Given the description of an element on the screen output the (x, y) to click on. 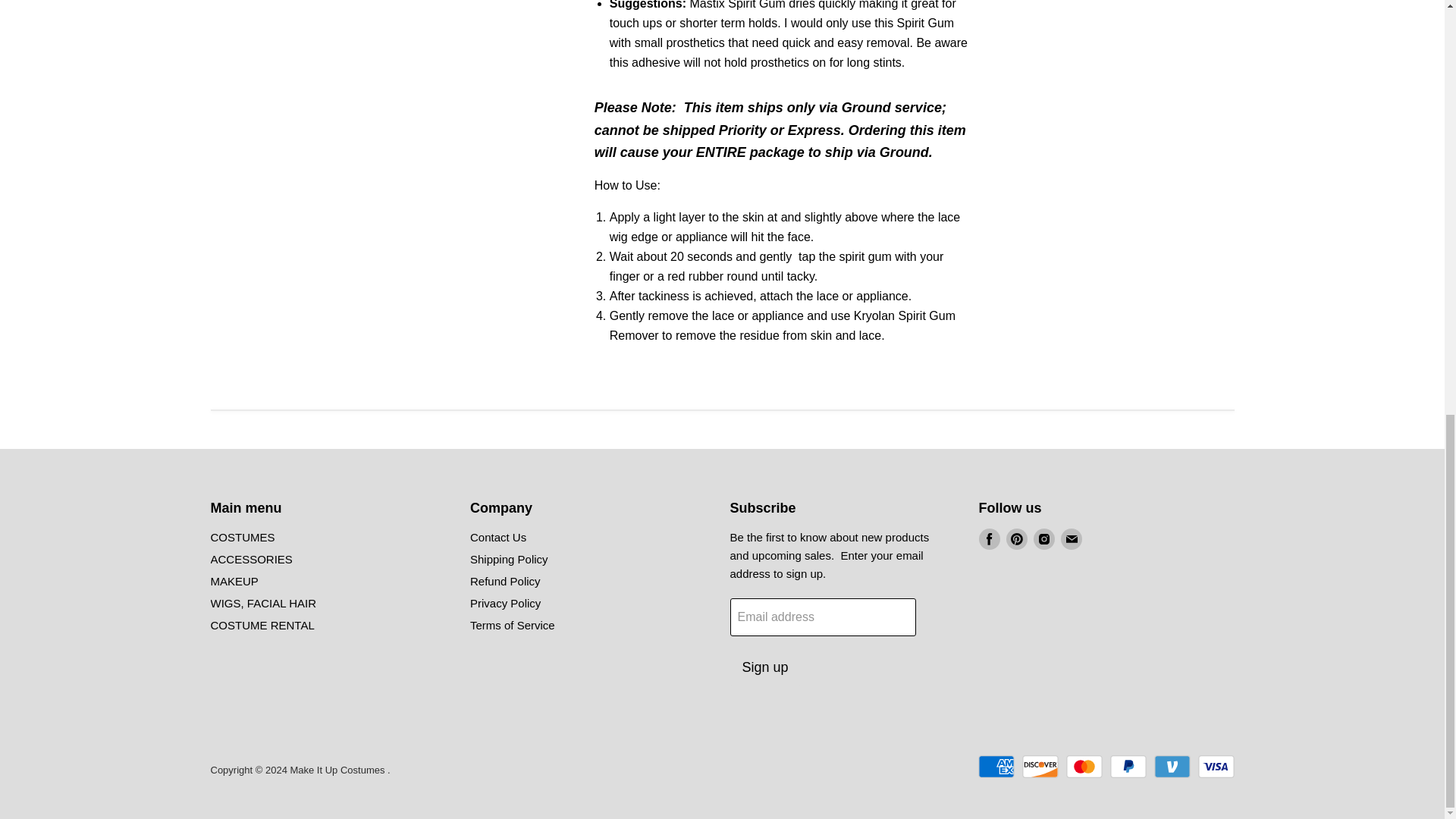
American Express (996, 766)
Facebook (989, 538)
Instagram (1043, 538)
Mastercard (1083, 766)
Pinterest (1016, 538)
Discover (1040, 766)
E-mail (1070, 538)
